Given the description of an element on the screen output the (x, y) to click on. 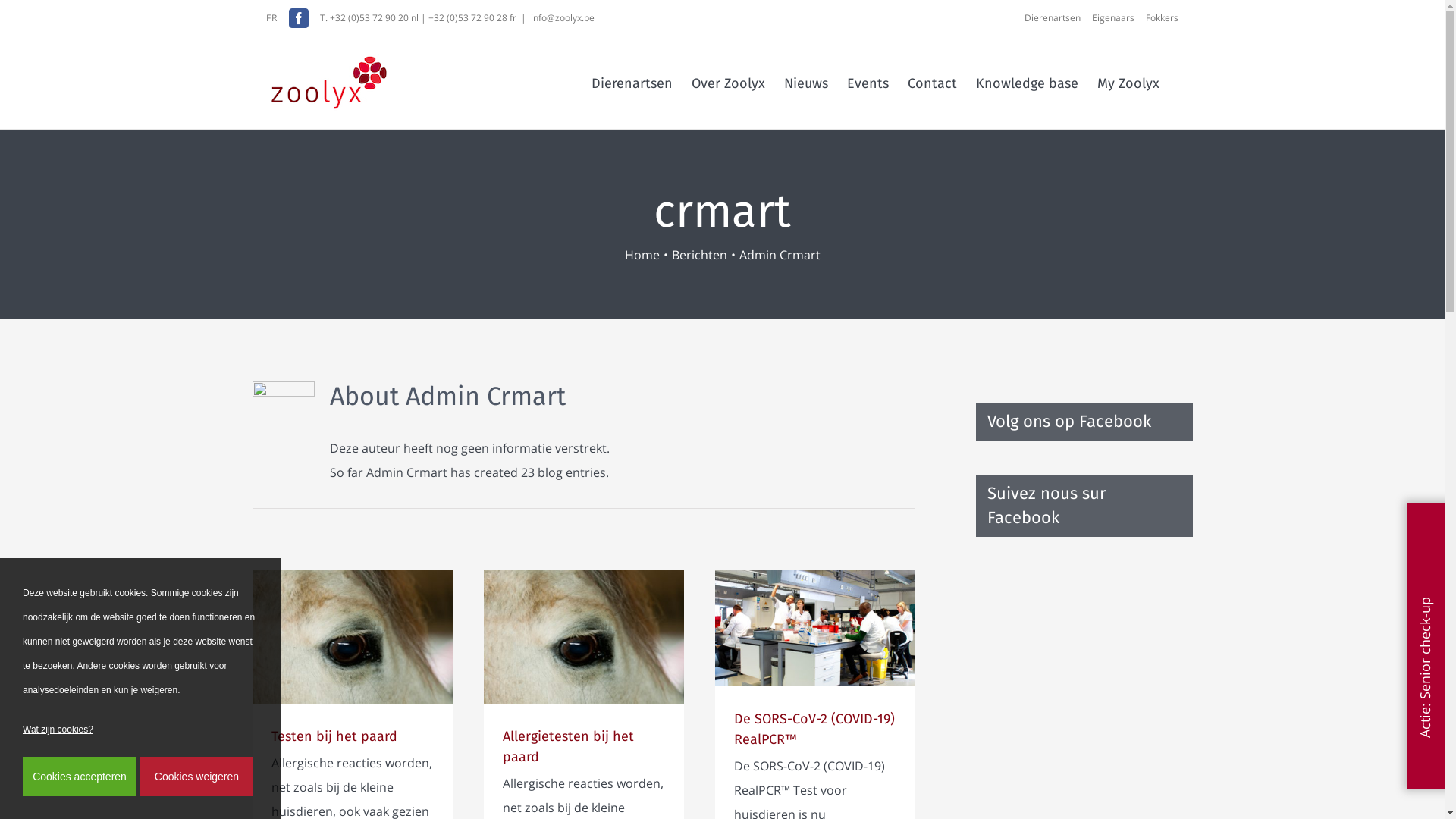
Cookies weigeren Element type: text (196, 776)
Fokkers Element type: text (1161, 18)
Over Zoolyx Element type: text (728, 82)
Allergietesten bij het paard Element type: text (567, 746)
Knowledge base Element type: text (1026, 82)
Berichten Element type: text (699, 254)
My Zoolyx Element type: text (1128, 82)
Testen bij het paard Element type: text (334, 736)
Wat zijn cookies? Element type: text (139, 729)
info@zoolyx.be Element type: text (562, 16)
Dierenartsen Element type: text (631, 82)
Nieuws Element type: text (806, 82)
Dierenartsen Element type: text (1058, 18)
FR Element type: text (271, 16)
Events Element type: text (867, 82)
Home Element type: text (641, 254)
Cookies accepteren Element type: text (79, 776)
Contact Element type: text (932, 82)
Facebook Element type: text (298, 18)
Eigenaars Element type: text (1118, 18)
